Given the description of an element on the screen output the (x, y) to click on. 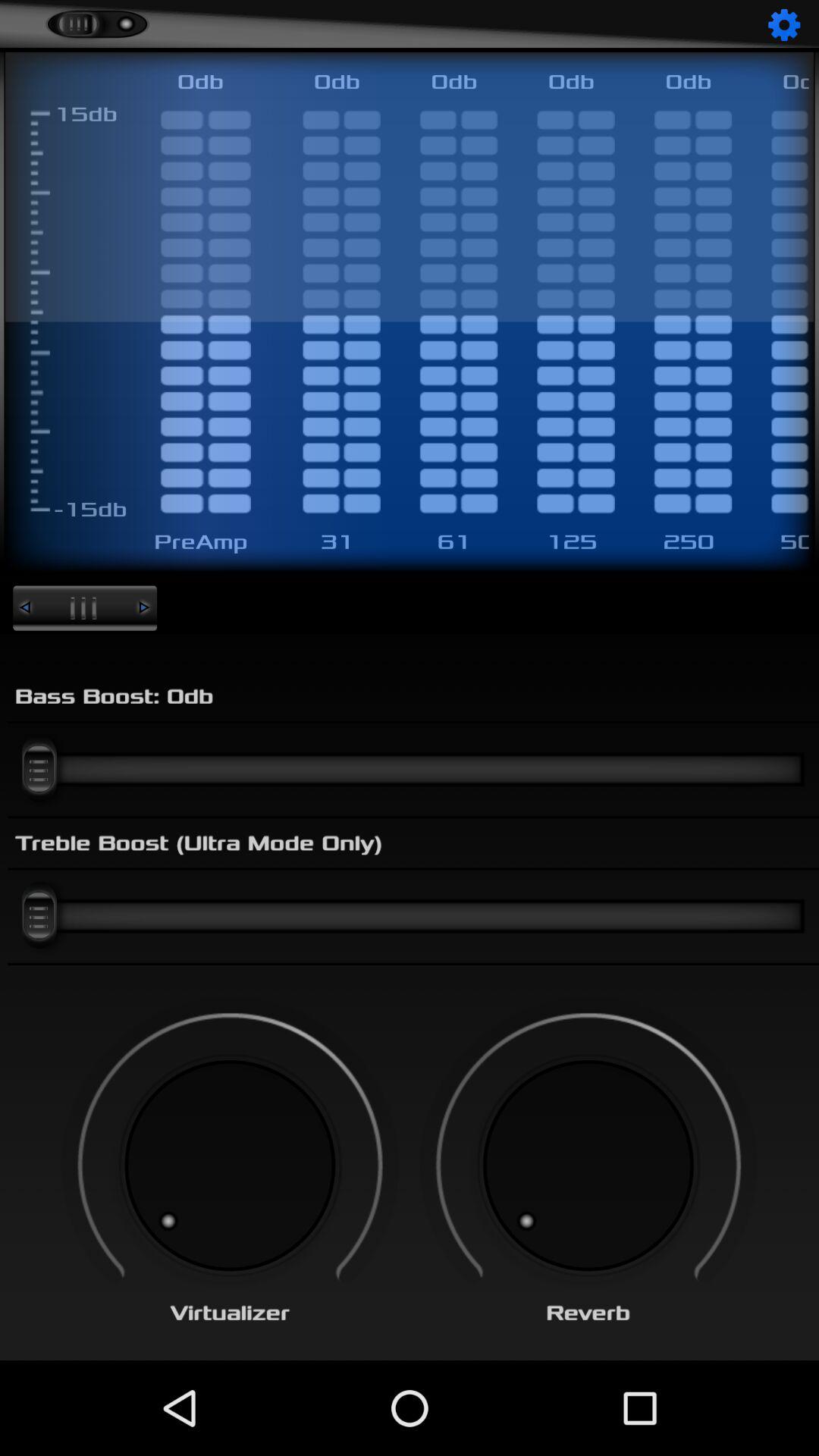
adjust reverb (587, 1165)
